Given the description of an element on the screen output the (x, y) to click on. 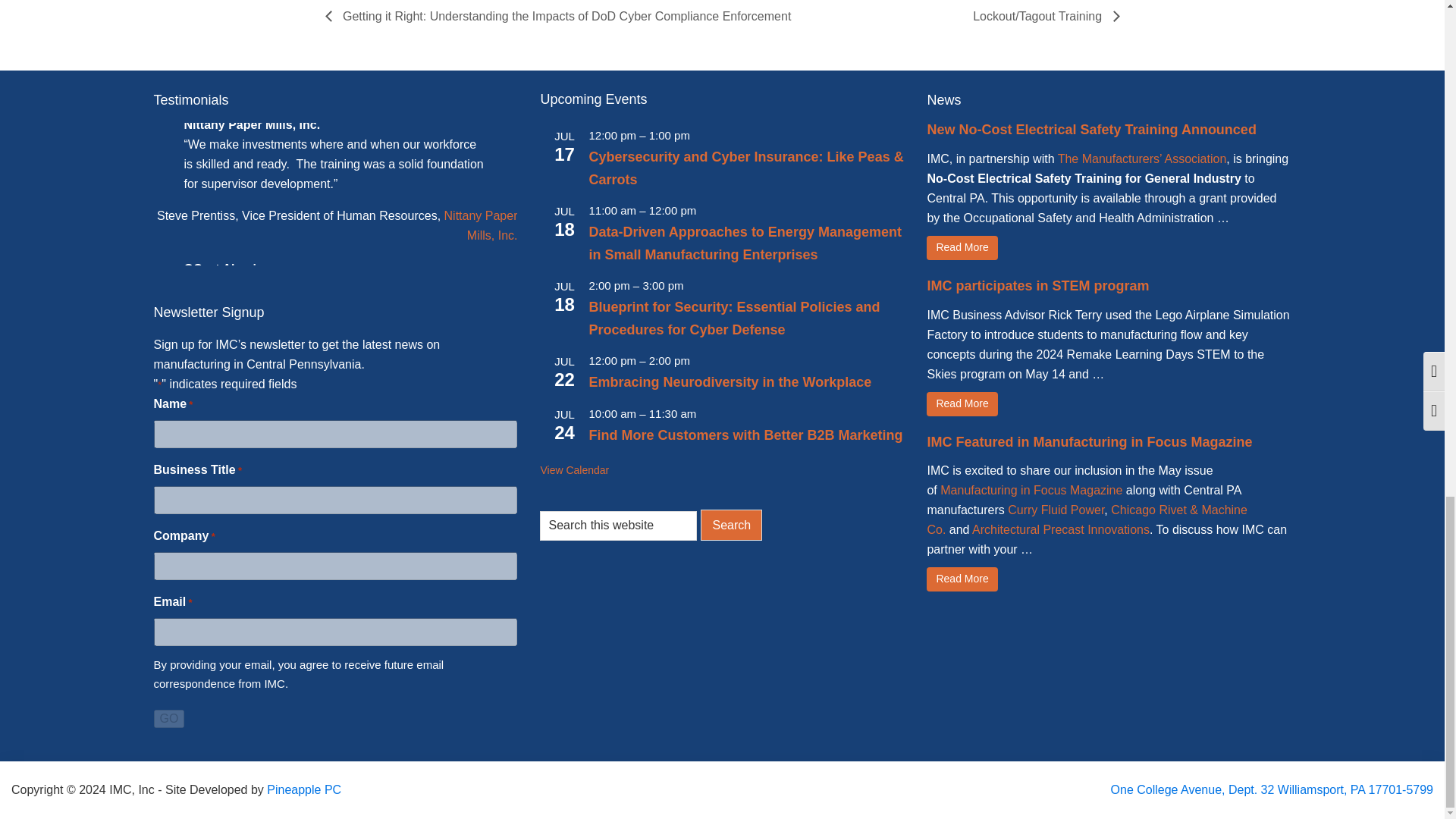
Search (730, 524)
GO (168, 719)
Search (730, 524)
